Given the description of an element on the screen output the (x, y) to click on. 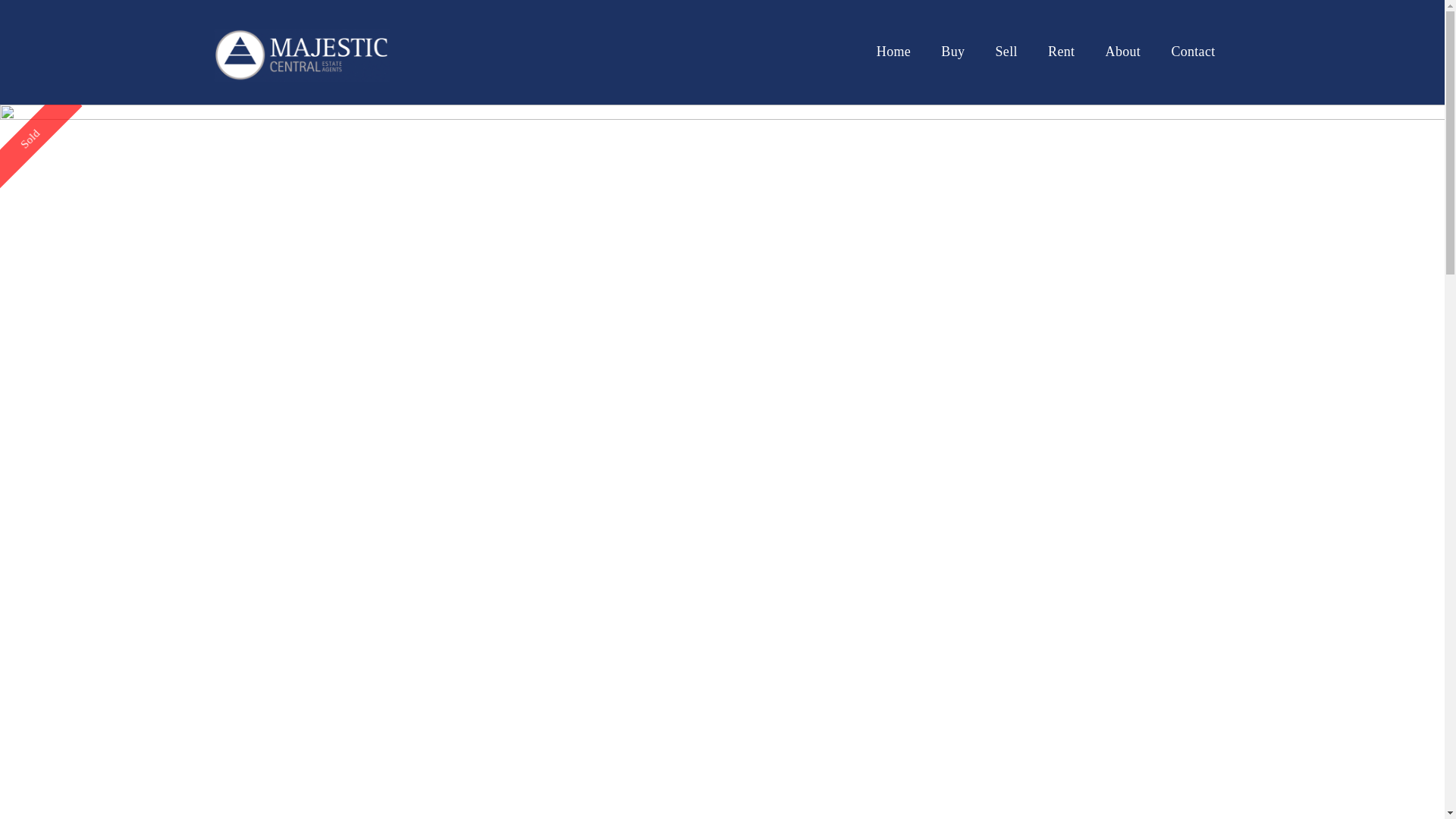
Majestic Central Estate Agents Element type: hover (301, 50)
Home Element type: text (893, 52)
Buy Element type: text (952, 52)
Contact Element type: text (1192, 52)
About Element type: text (1123, 52)
Rent Element type: text (1060, 52)
Sell Element type: text (1006, 52)
